Given the description of an element on the screen output the (x, y) to click on. 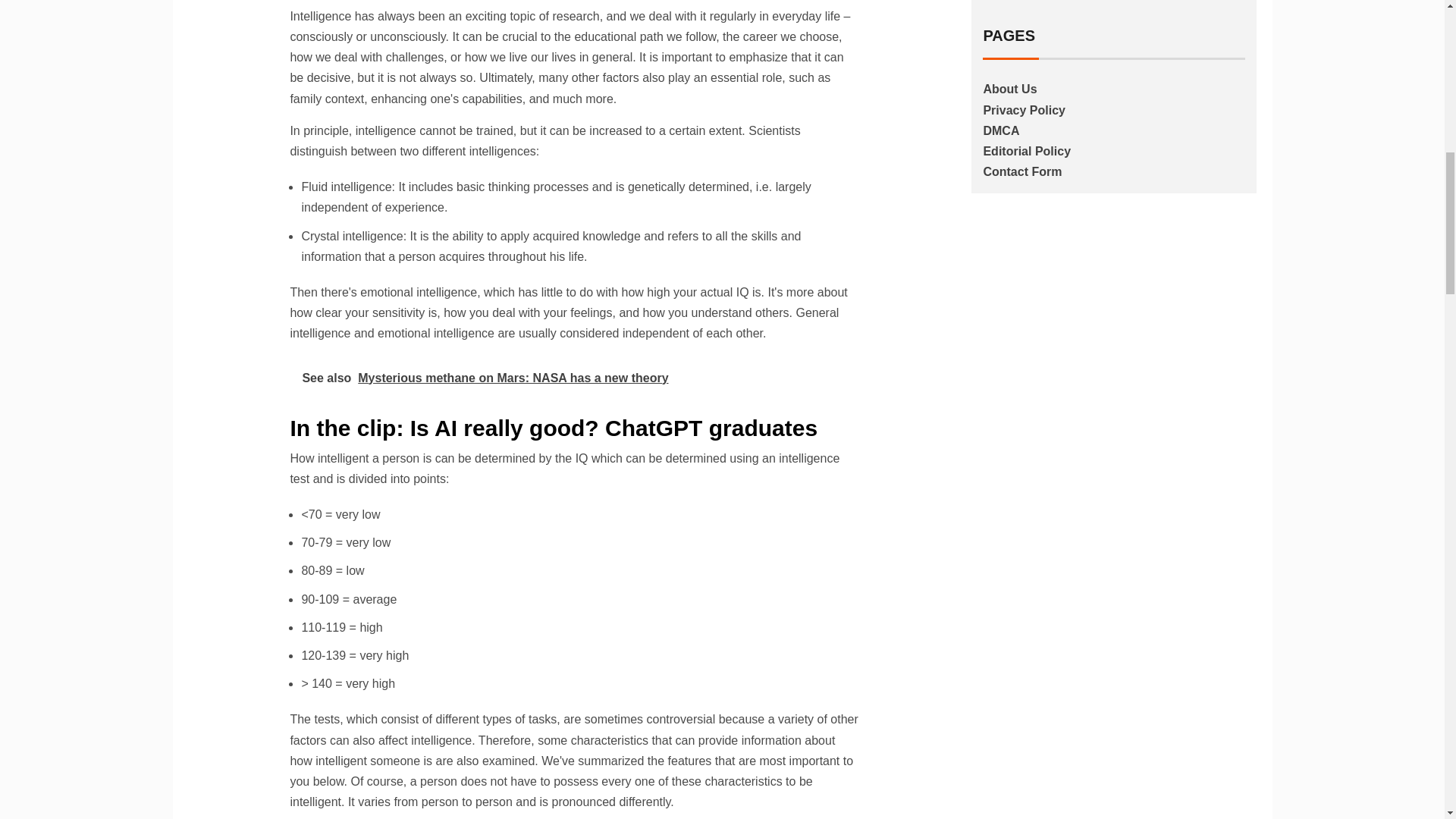
See also  Mysterious methane on Mars: NASA has a new theory (574, 377)
